Given the description of an element on the screen output the (x, y) to click on. 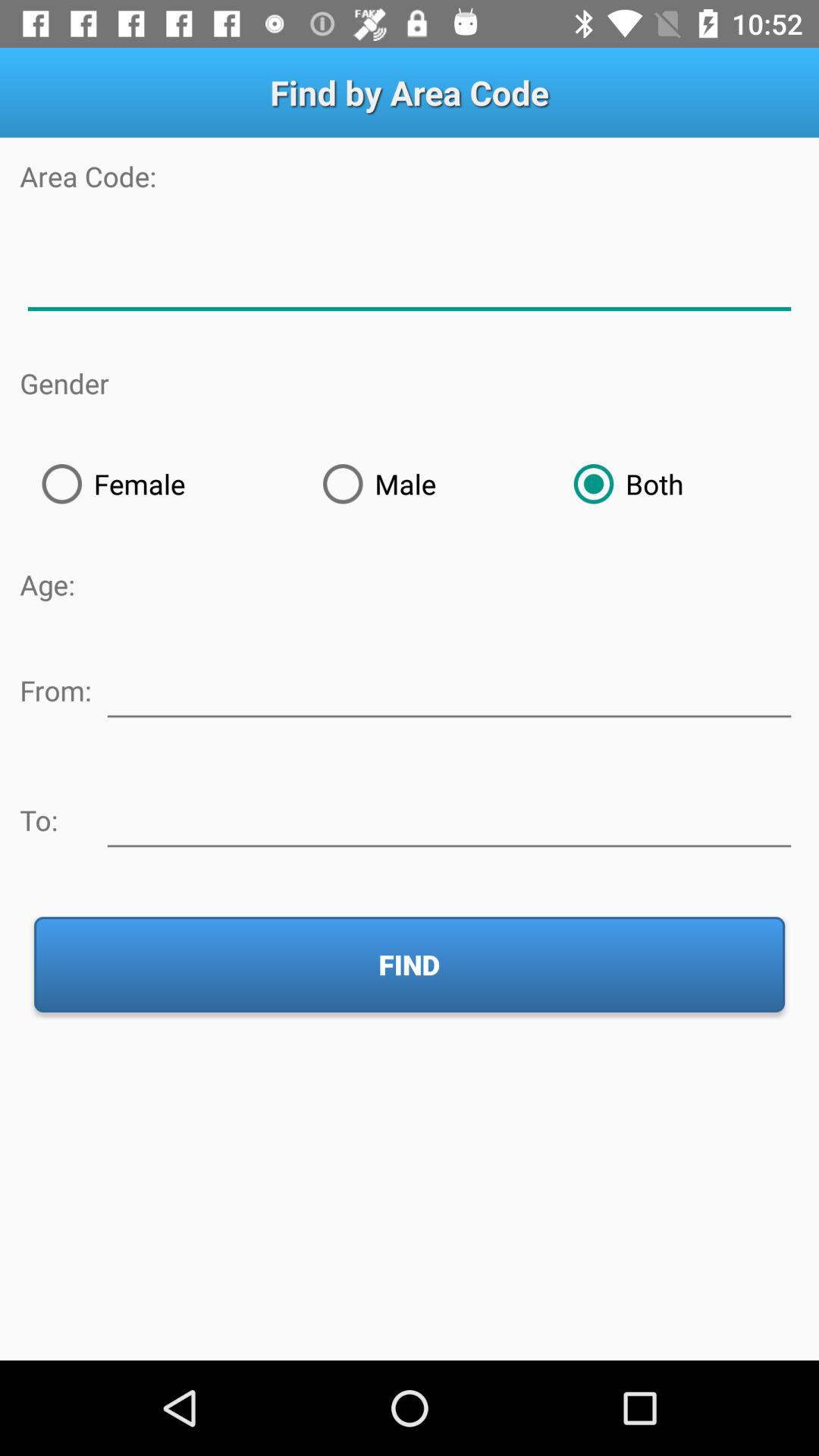
find the area code (409, 279)
